Given the description of an element on the screen output the (x, y) to click on. 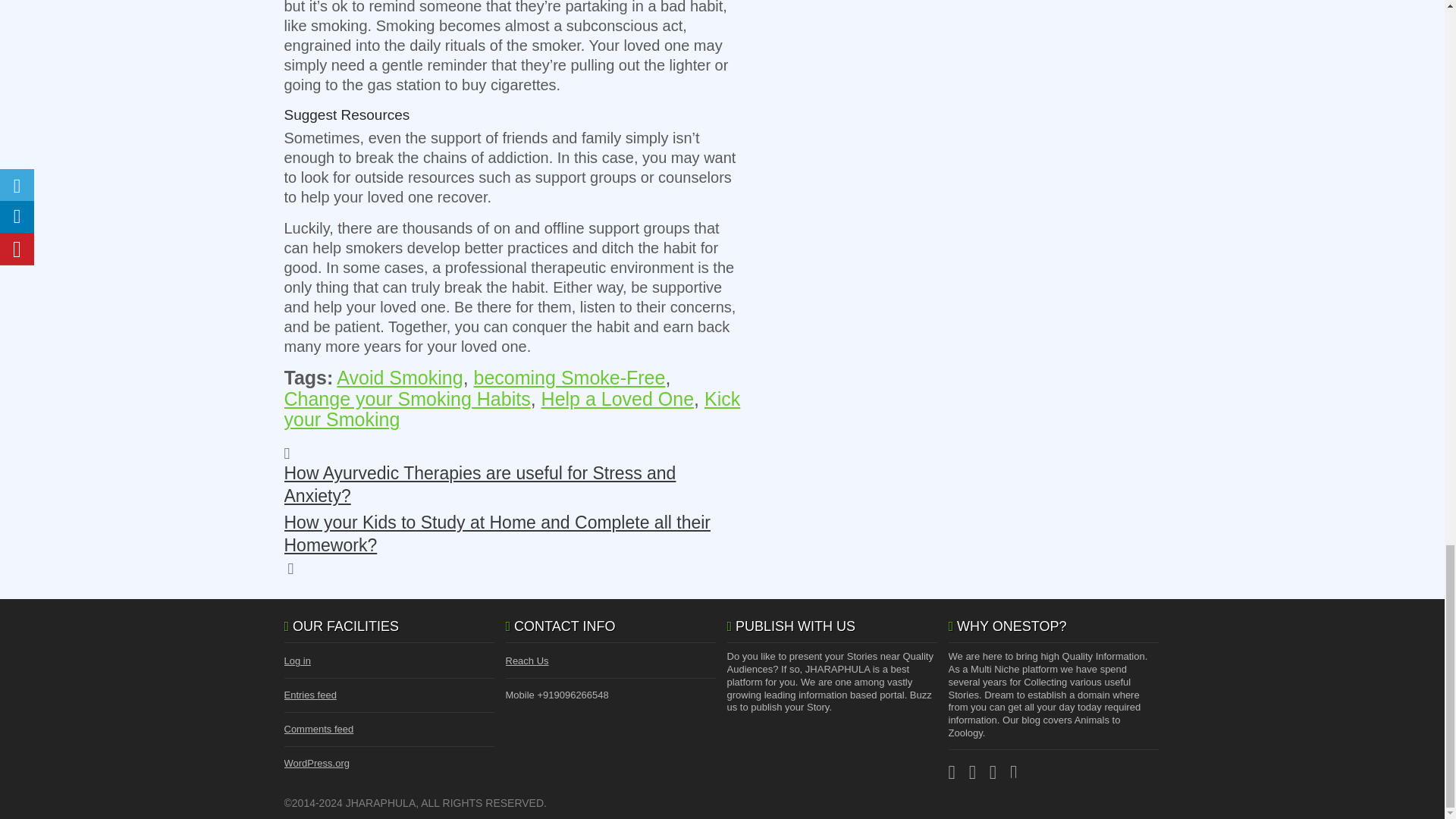
Avoid Smoking (399, 377)
Change your Smoking Habits (406, 398)
becoming Smoke-Free (569, 377)
